Given the description of an element on the screen output the (x, y) to click on. 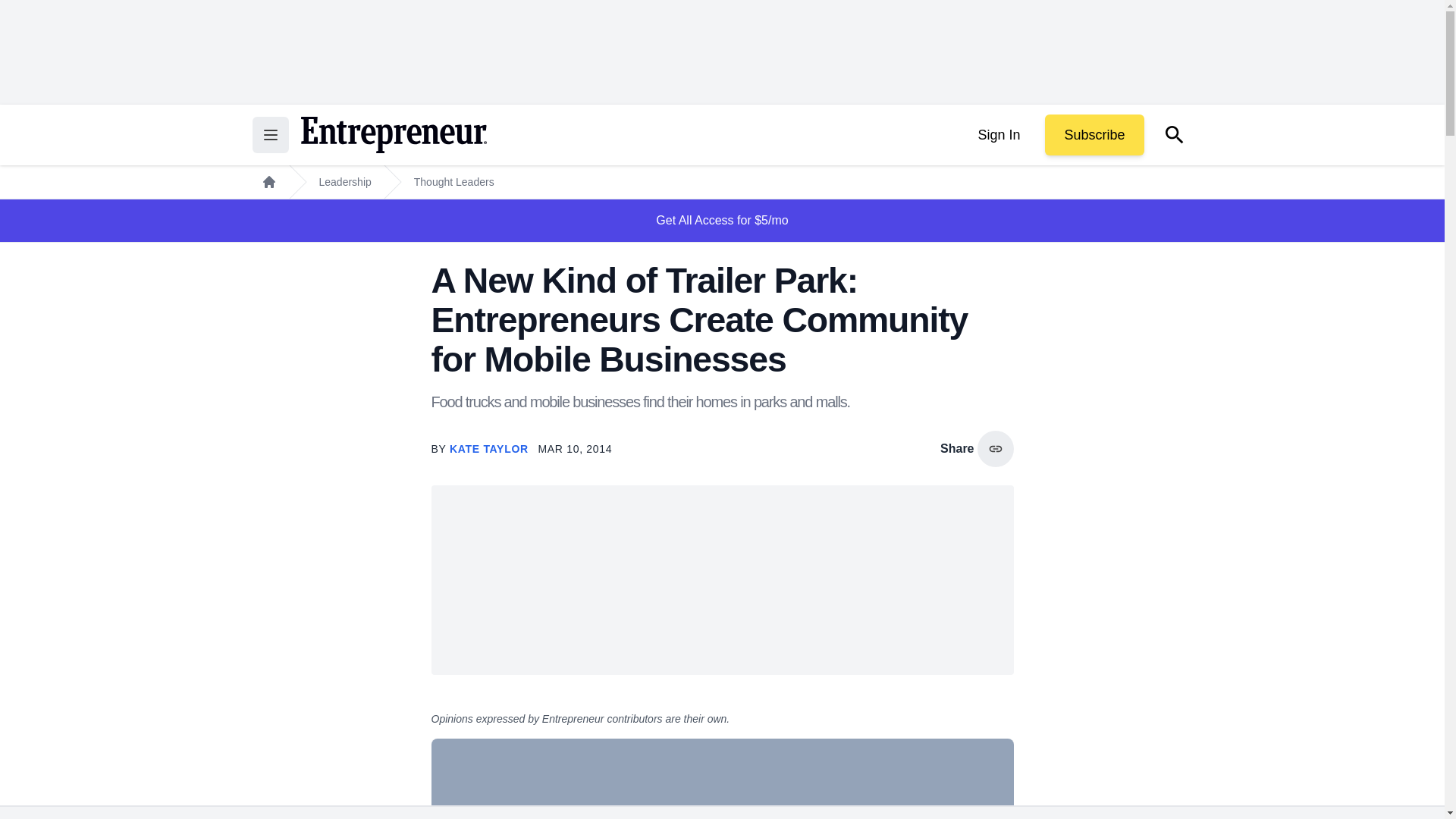
copy (994, 448)
Subscribe (1093, 134)
Return to the home page (392, 135)
Sign In (998, 134)
